Given the description of an element on the screen output the (x, y) to click on. 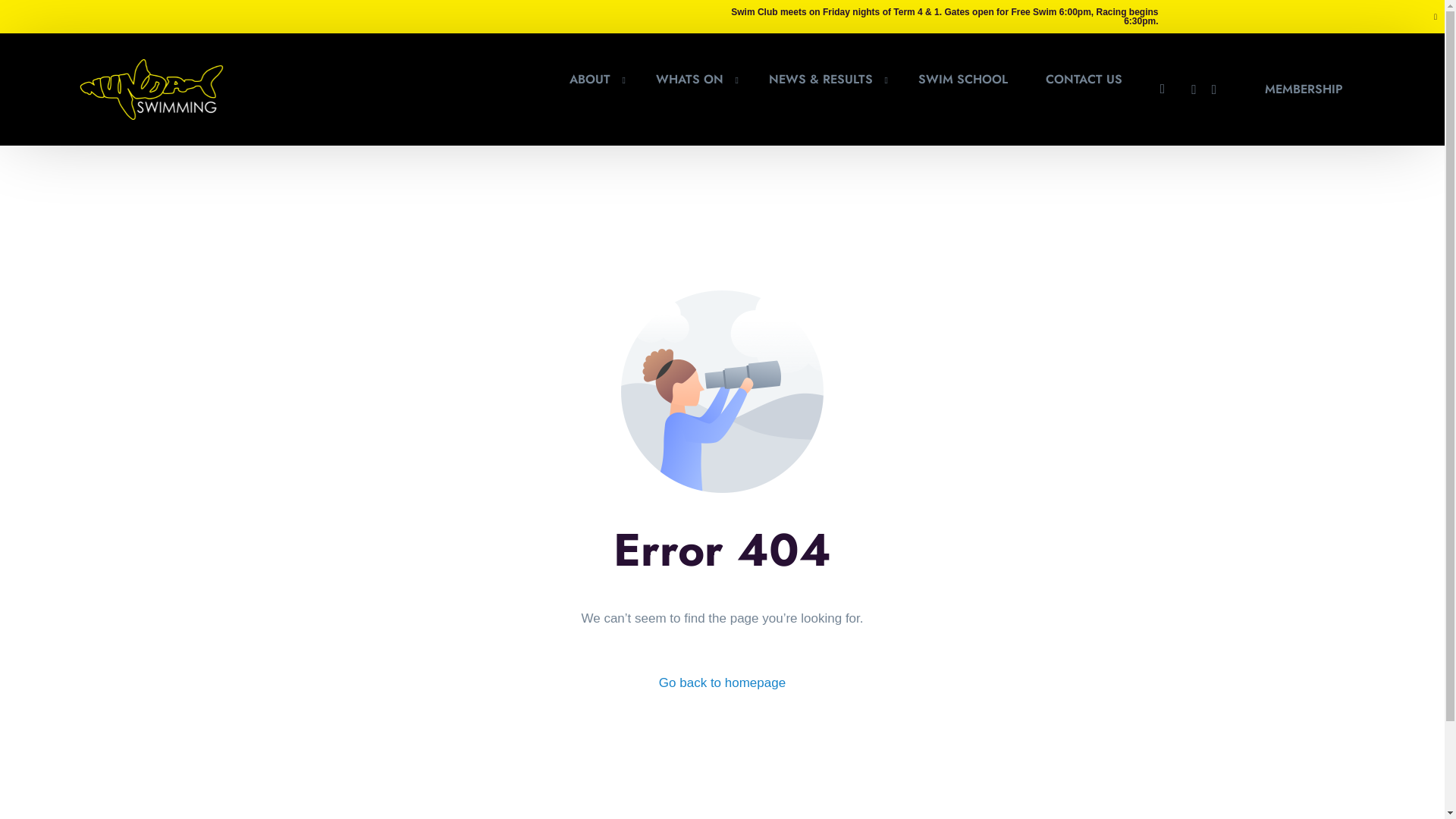
ABOUT Element type: text (593, 79)
NEWS & RESULTS Element type: text (824, 79)
SWIM SCHOOL Element type: text (962, 79)
WHATS ON Element type: text (693, 79)
CONTACT US Element type: text (1083, 79)
Go back to homepage Element type: text (721, 682)
MEMBERSHIP Element type: text (1303, 89)
